Given the description of an element on the screen output the (x, y) to click on. 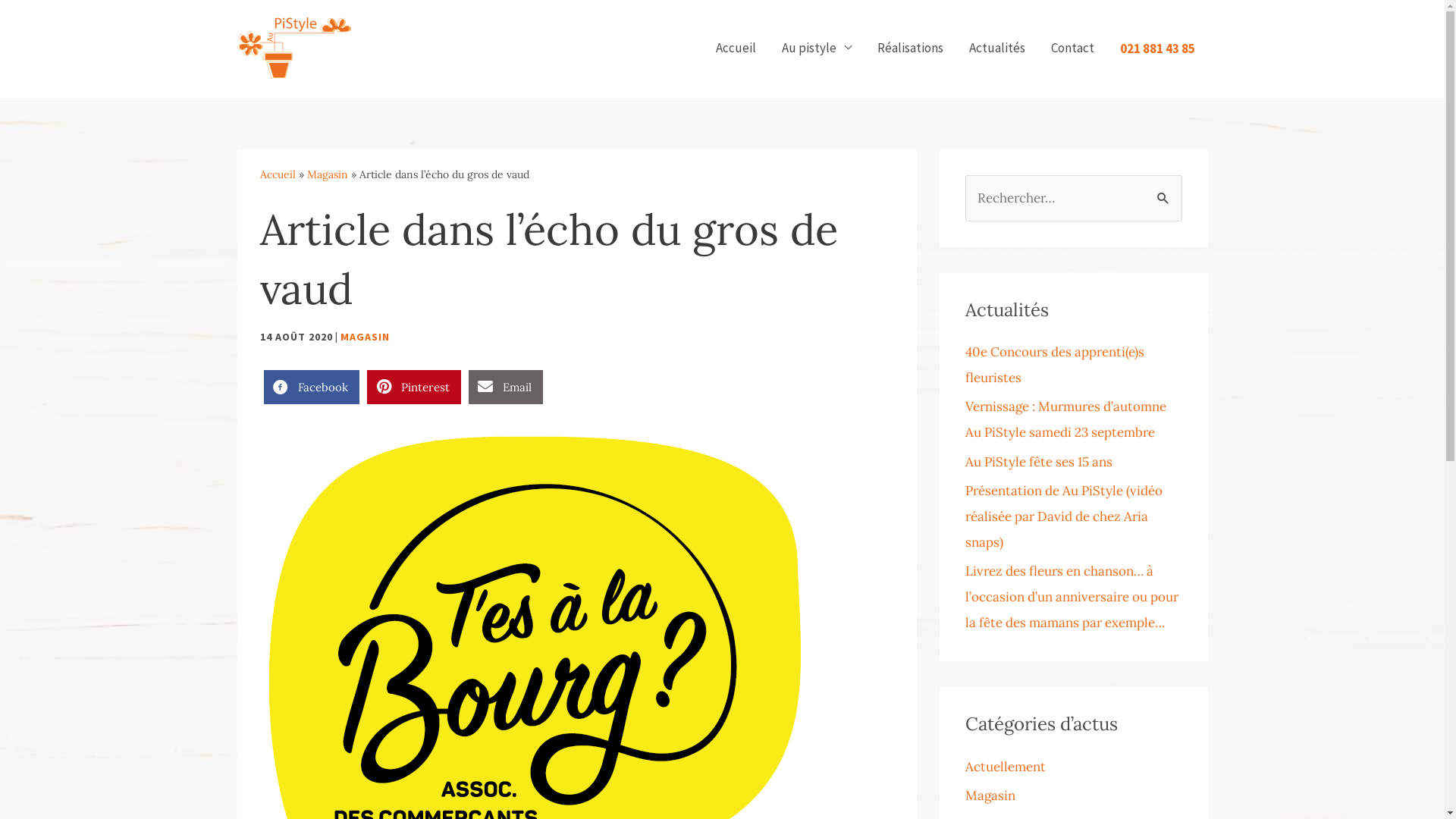
40e Concours des apprenti(e)s fleuristes Element type: text (1053, 364)
Pinterest Element type: text (414, 387)
Actuellement Element type: text (1004, 766)
Accueil Element type: text (276, 174)
021 881 43 85 Element type: text (1156, 48)
Email Element type: text (505, 387)
Accueil Element type: text (735, 47)
Facebook Element type: text (311, 387)
Magasin Element type: text (989, 795)
Contact Element type: text (1071, 47)
Au pistyle Element type: text (816, 47)
Magasin Element type: text (326, 174)
MAGASIN Element type: text (364, 335)
Rechercher Element type: text (1165, 197)
